Given the description of an element on the screen output the (x, y) to click on. 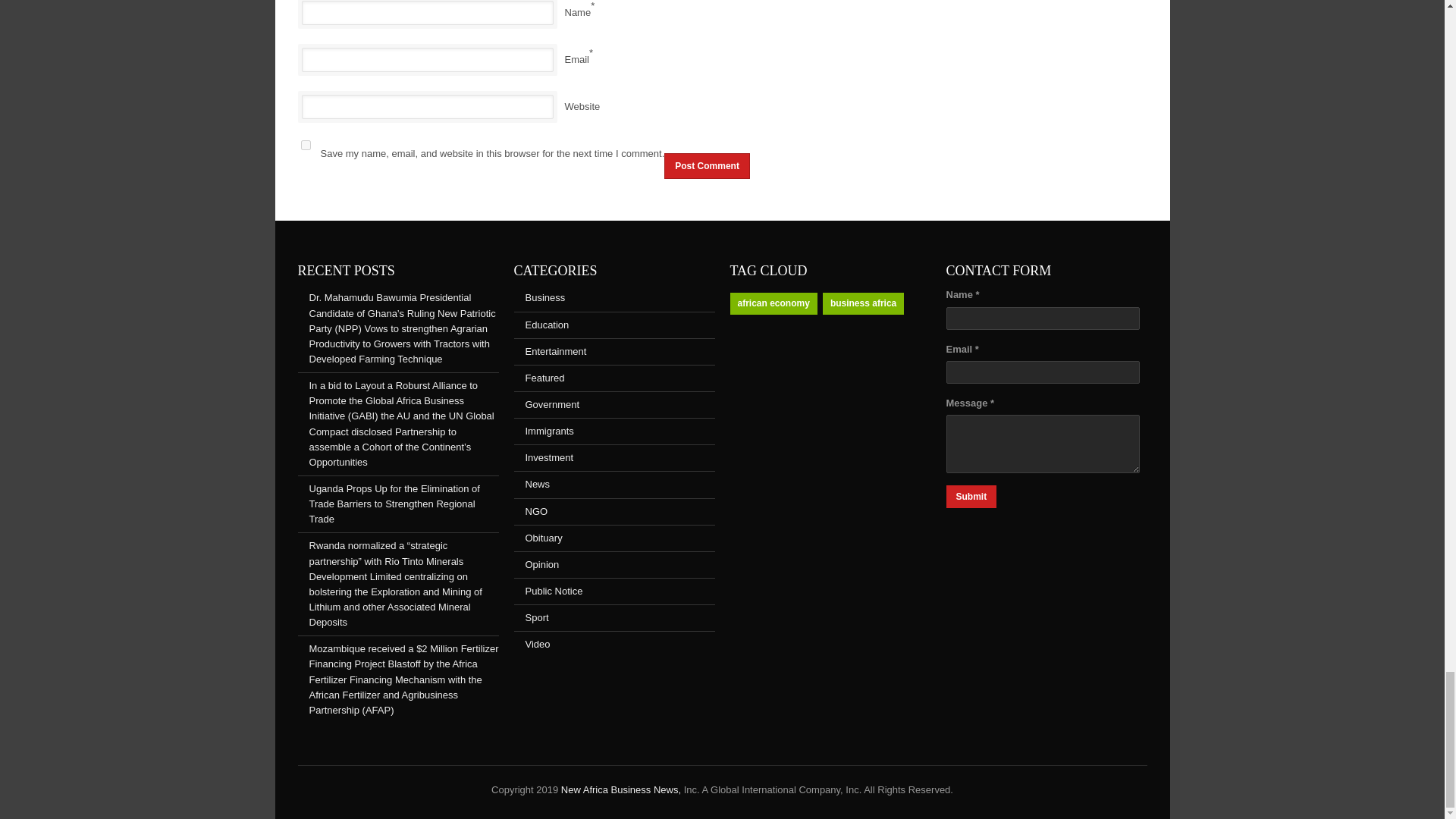
Post Comment (706, 166)
yes (304, 144)
